Given the description of an element on the screen output the (x, y) to click on. 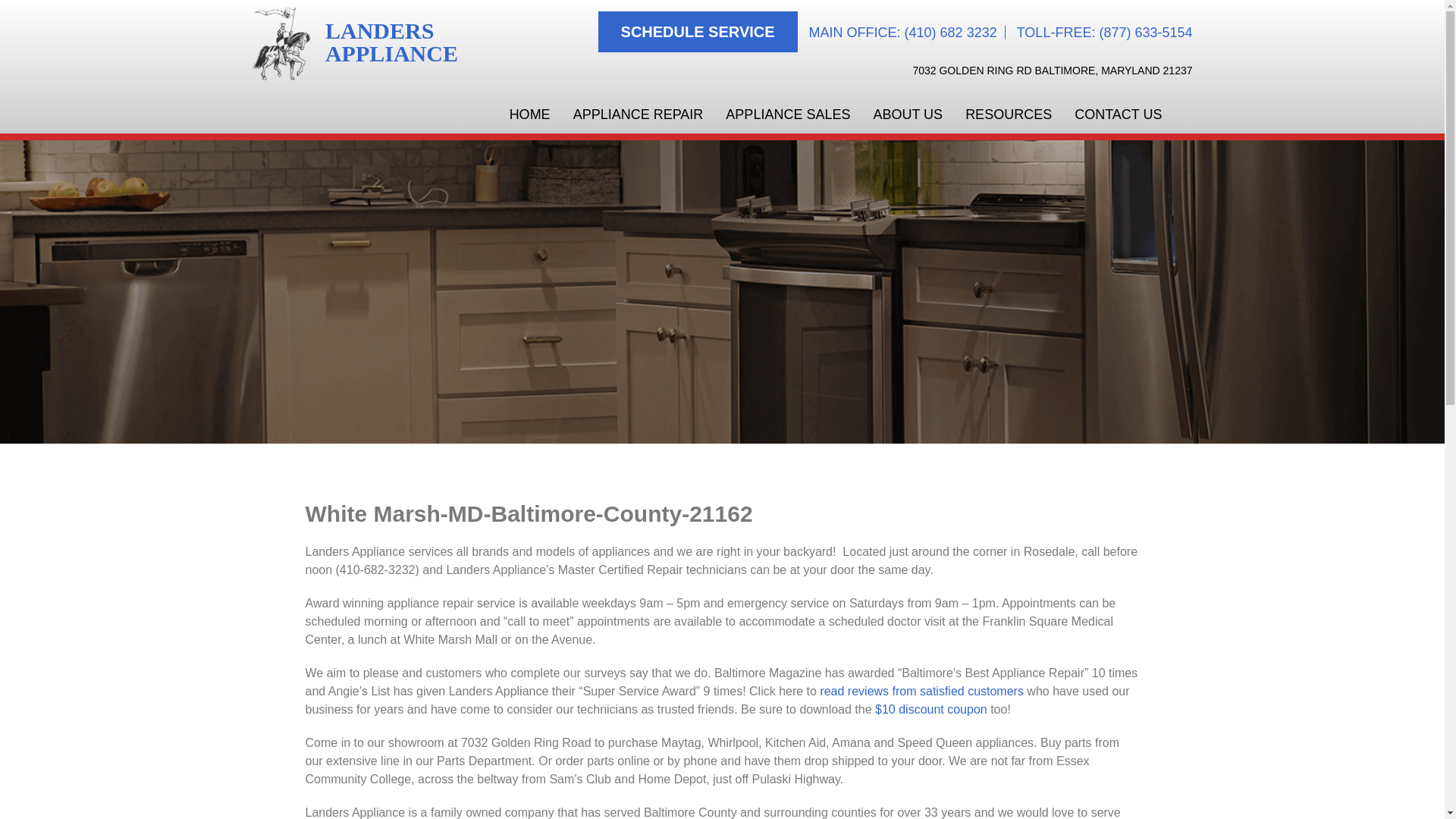
7032 GOLDEN RING RD BALTIMORE, MARYLAND 21237 (1052, 70)
APPLIANCE REPAIR (638, 114)
SCHEDULE SERVICE (697, 31)
HOME (357, 42)
